Given the description of an element on the screen output the (x, y) to click on. 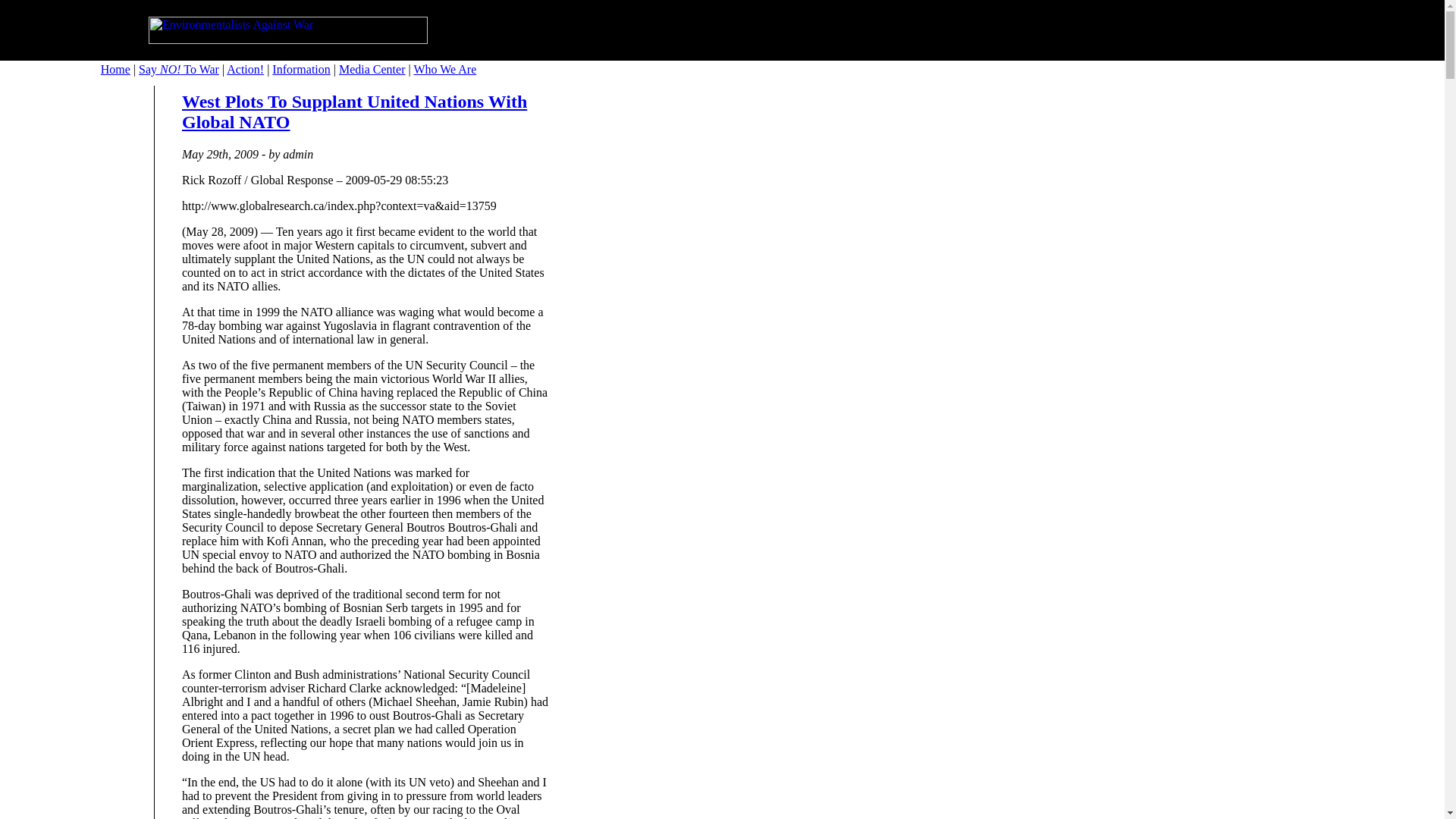
Action! (245, 69)
Who We Are (444, 69)
Media Center (372, 69)
West Plots To Supplant United Nations With Global NATO (354, 111)
Home (115, 69)
Say NO! To War (178, 69)
Information (301, 69)
